Given the description of an element on the screen output the (x, y) to click on. 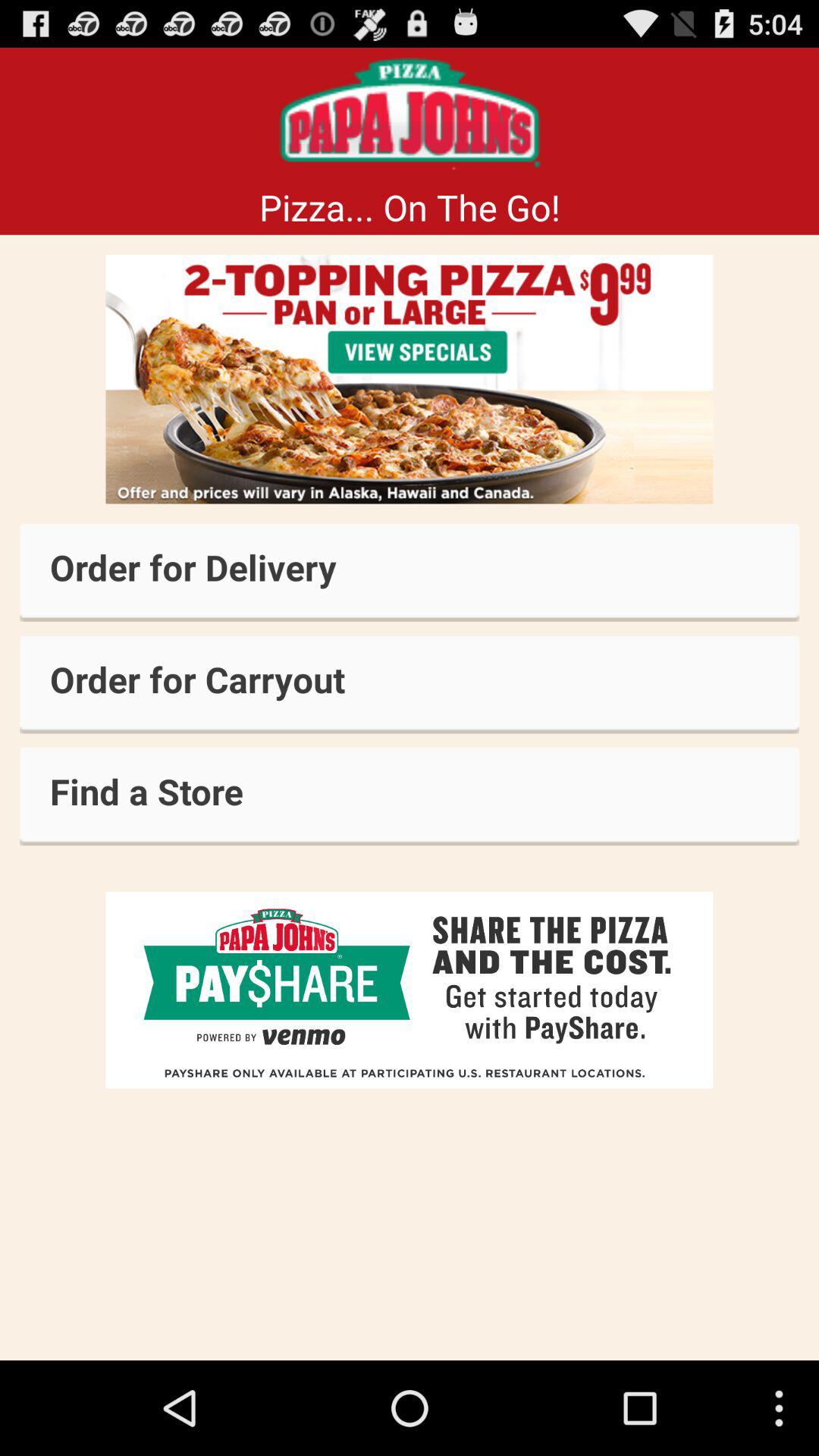
view special (409, 378)
